Given the description of an element on the screen output the (x, y) to click on. 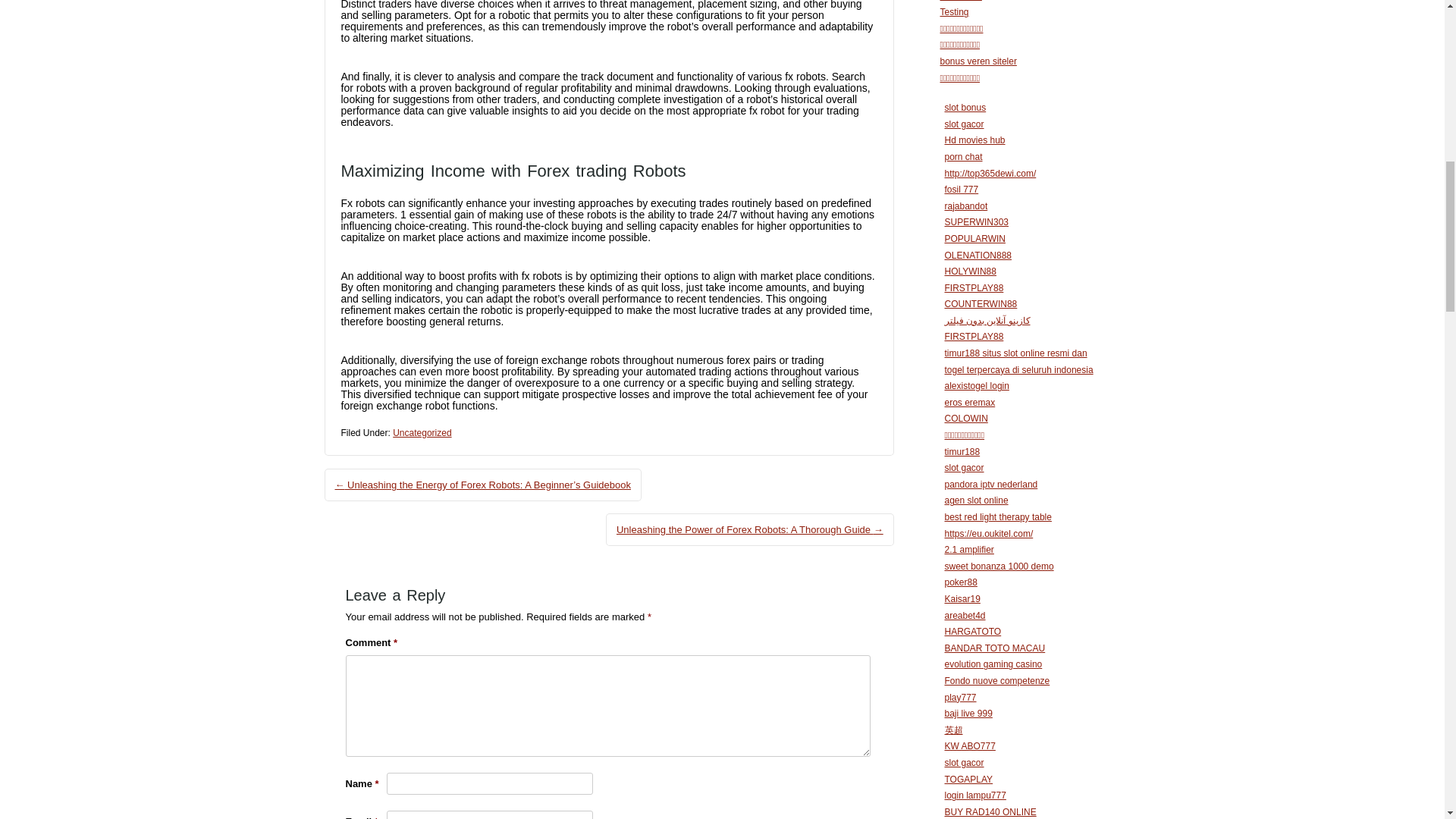
bonus veren siteler (978, 61)
dewa1000 (960, 0)
slot bonus (965, 107)
Testing (954, 11)
Uncategorized (422, 432)
